Given the description of an element on the screen output the (x, y) to click on. 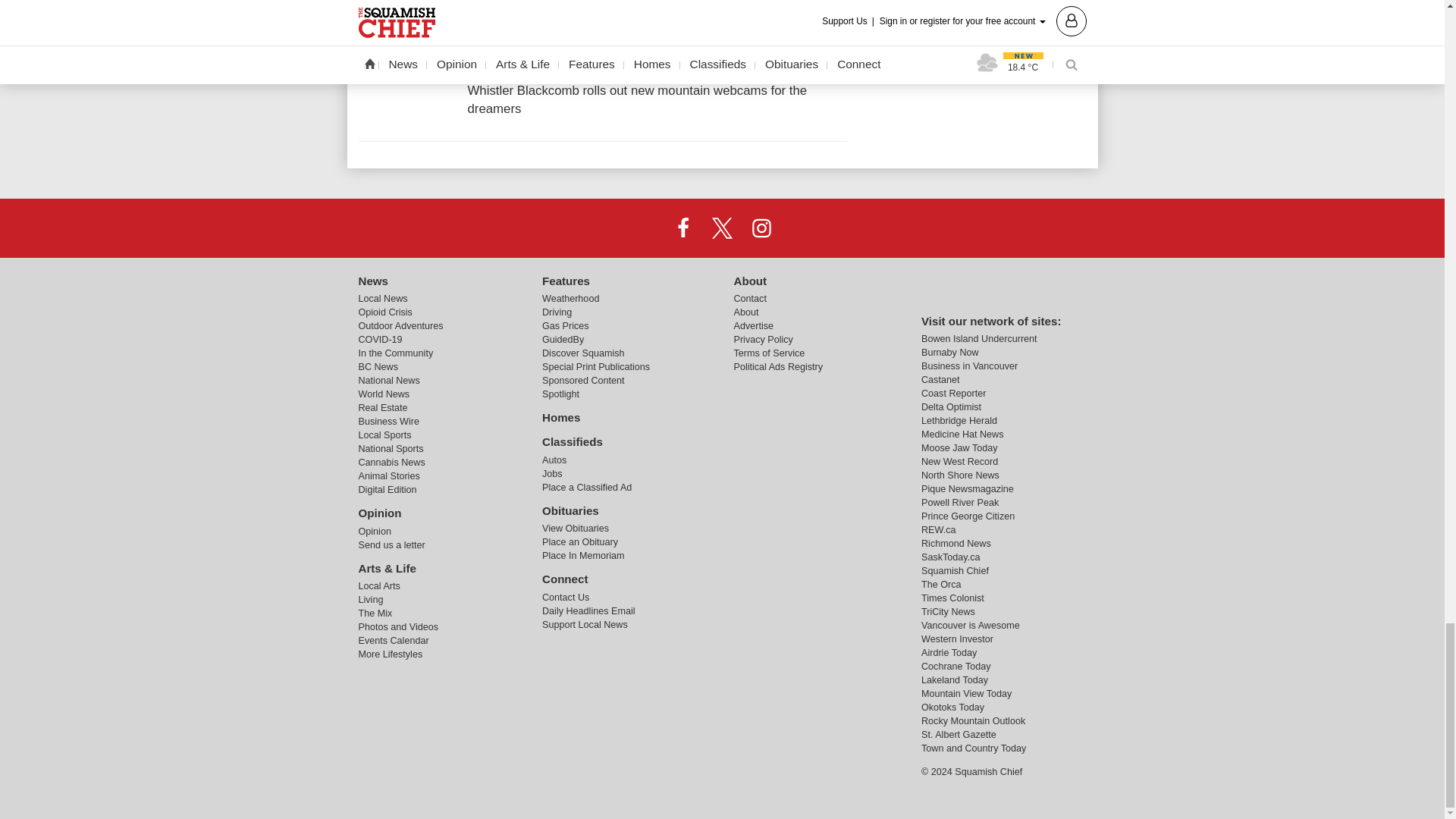
Instagram (760, 226)
Facebook (683, 226)
X (721, 226)
